Given the description of an element on the screen output the (x, y) to click on. 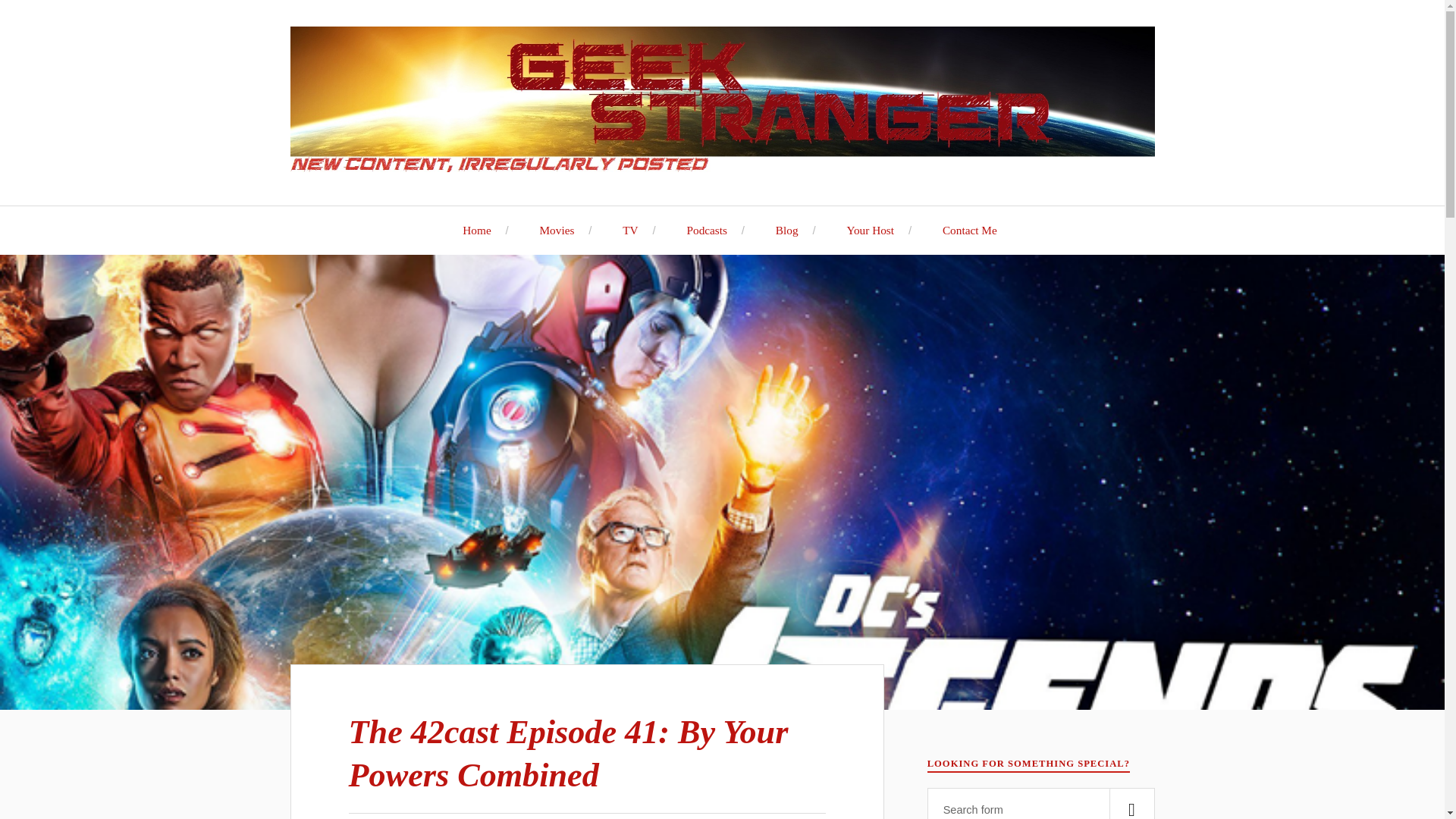
The 42cast Episode 41: By Your Powers Combined (569, 753)
Movies (549, 229)
Your Host (862, 229)
Contact Me (962, 229)
Kick back, stay awhile (468, 229)
Podcasts (698, 229)
With the Most (862, 229)
Sort of like what I write, but less thought out. (698, 229)
Home (468, 229)
